Given the description of an element on the screen output the (x, y) to click on. 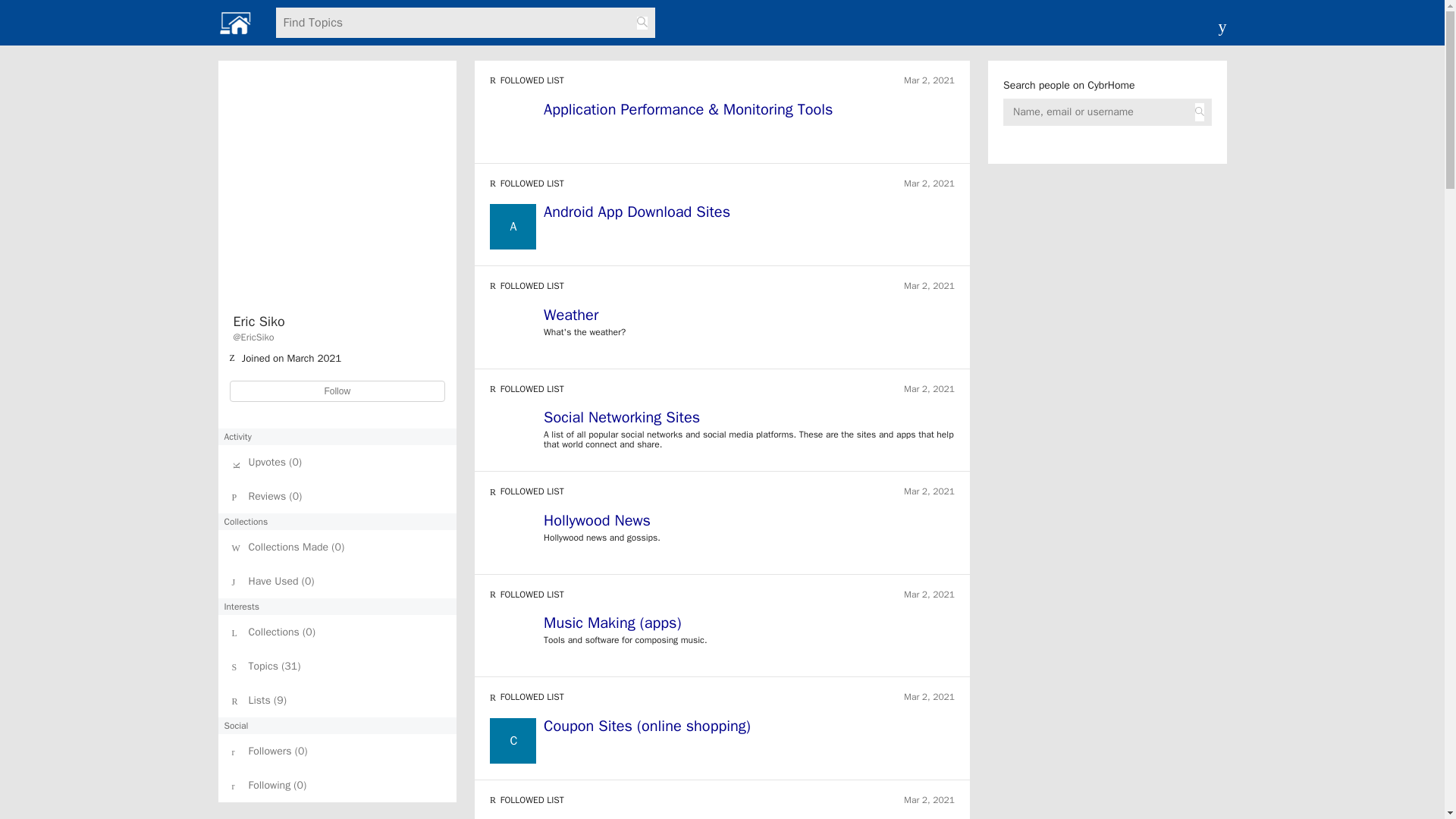
Weather (570, 314)
Follow (336, 391)
Android App Download Sites (636, 211)
Social Networking Sites (749, 419)
Hollywood News (596, 520)
Weather (749, 317)
C (512, 740)
Hollywood News (749, 522)
Social Networking Sites (621, 416)
A (512, 226)
Android App Download Sites (749, 213)
